Given the description of an element on the screen output the (x, y) to click on. 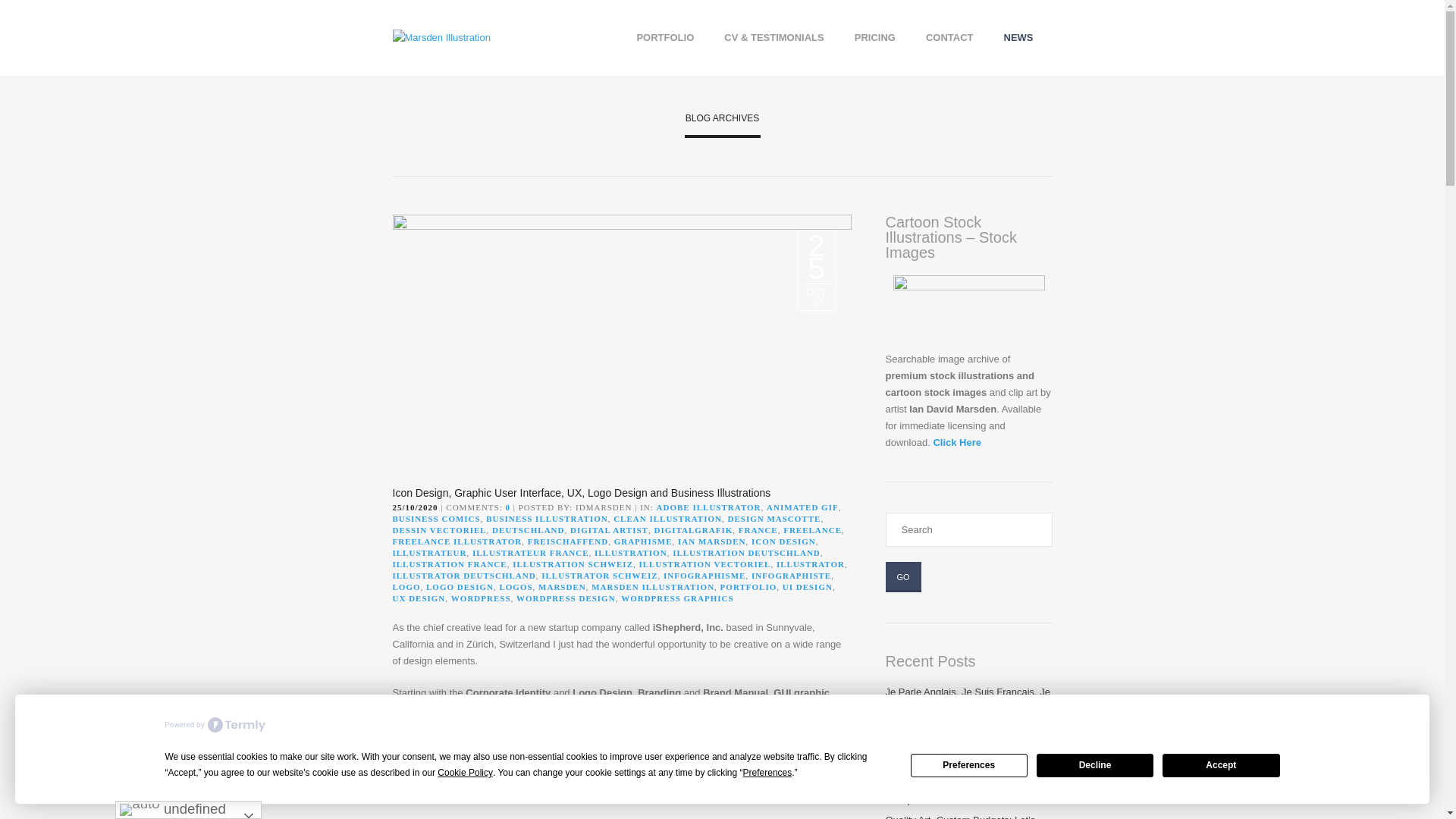
Accept (1220, 765)
DESIGN MASCOTTE (773, 518)
Decline (1094, 765)
Preferences (767, 772)
CONTACT (949, 37)
Go (903, 576)
ANIMATED GIF (802, 506)
Preferences (969, 765)
PORTFOLIO (664, 37)
BUSINESS COMICS (436, 518)
ADOBE ILLUSTRATOR (708, 506)
Marsden Illustration (441, 38)
NEWS (1017, 37)
